Given the description of an element on the screen output the (x, y) to click on. 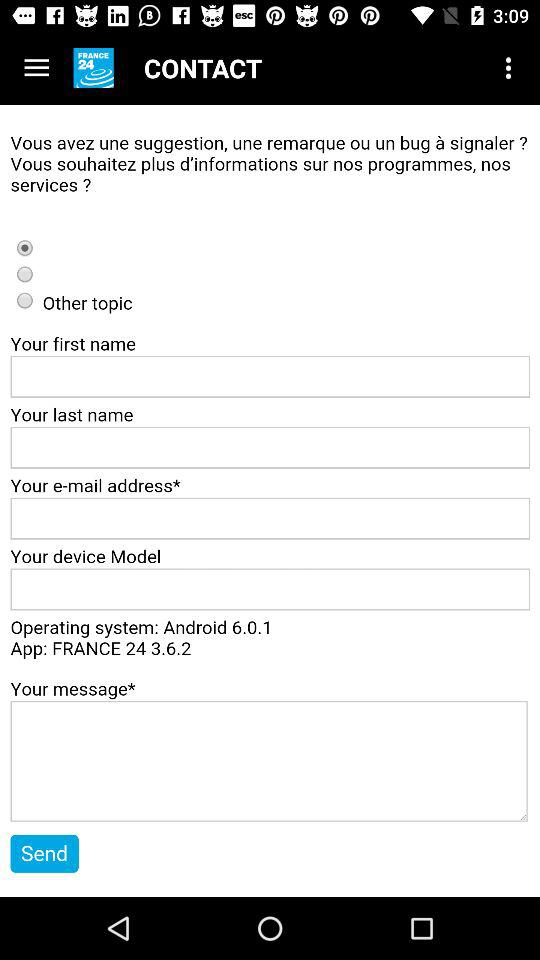
more options (36, 68)
